Given the description of an element on the screen output the (x, y) to click on. 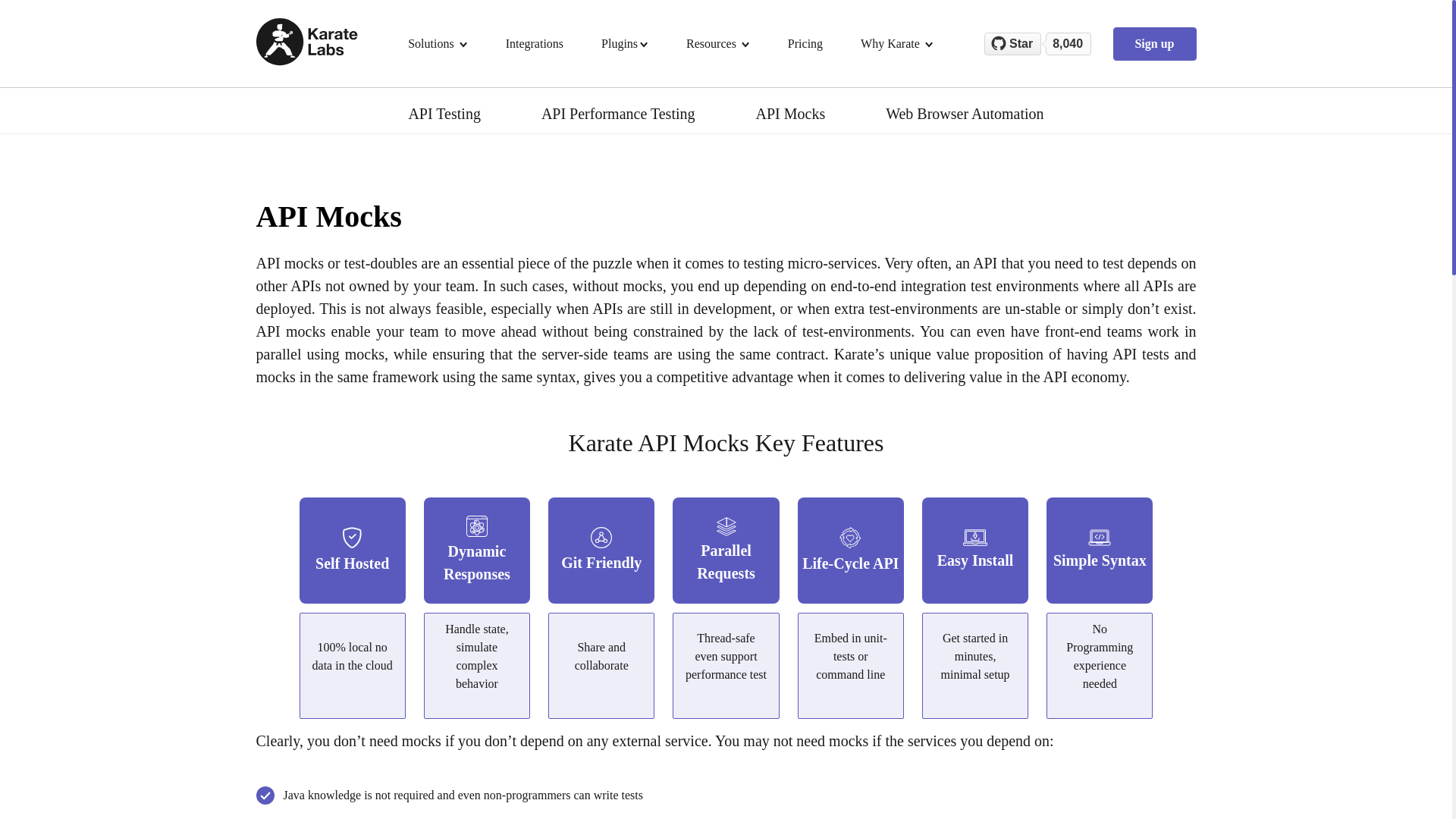
Resources (717, 43)
Integrations (534, 43)
Solutions (437, 43)
Pricing (804, 43)
Plugins (624, 43)
GitHub (1048, 42)
Why Karate (896, 43)
